Given the description of an element on the screen output the (x, y) to click on. 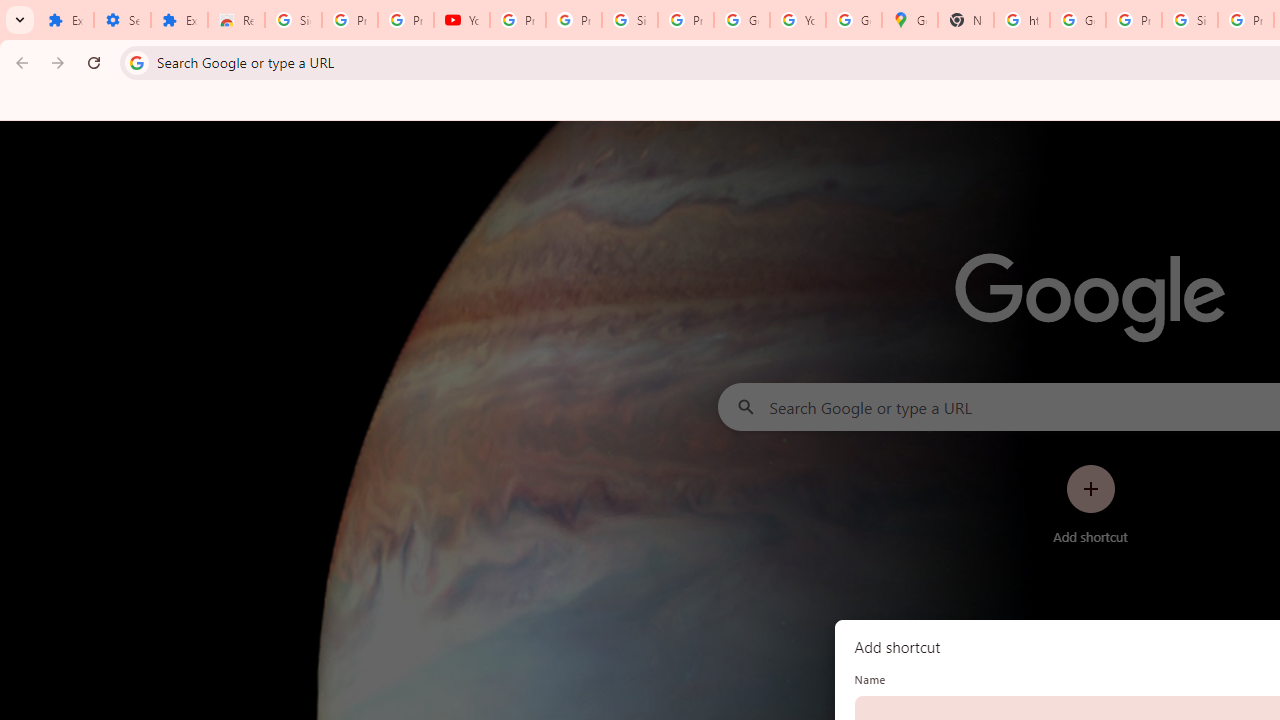
https://scholar.google.com/ (1021, 20)
Sign in - Google Accounts (293, 20)
Google Maps (909, 20)
New Tab (966, 20)
Sign in - Google Accounts (1190, 20)
Extensions (179, 20)
Reviews: Helix Fruit Jump Arcade Game (235, 20)
Search icon (136, 62)
YouTube (461, 20)
